Given the description of an element on the screen output the (x, y) to click on. 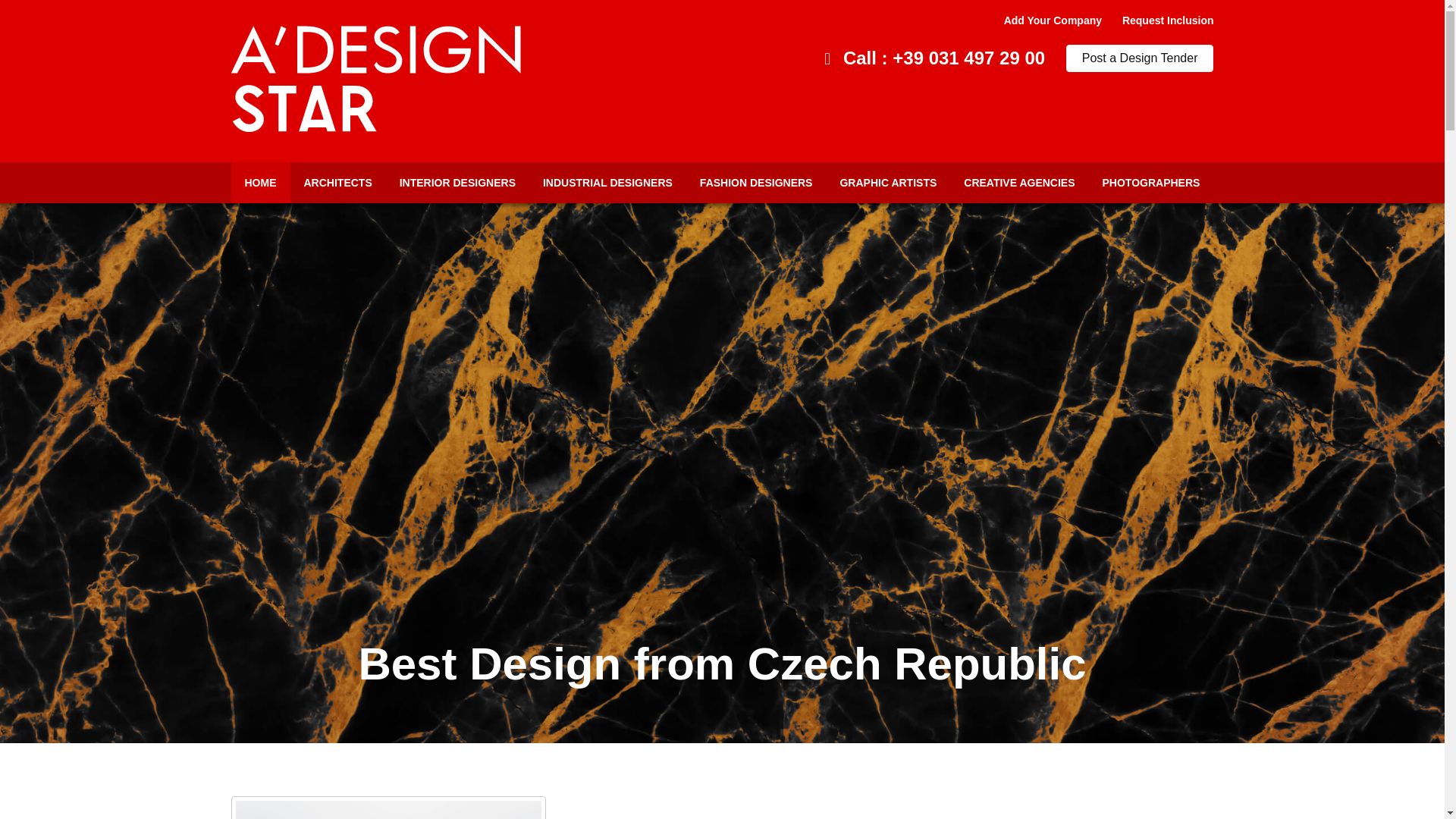
ARCHITECTS (337, 182)
Post a Design Tender (1139, 58)
INTERIOR DESIGNERS (457, 182)
INDUSTRIAL DESIGNERS (607, 182)
Request Inclusion (1168, 20)
HOME (259, 182)
Add Your Company (1053, 20)
PHOTOGRAPHERS (1151, 182)
FASHION DESIGNERS (756, 182)
CREATIVE AGENCIES (1018, 182)
GRAPHIC ARTISTS (887, 182)
